Given the description of an element on the screen output the (x, y) to click on. 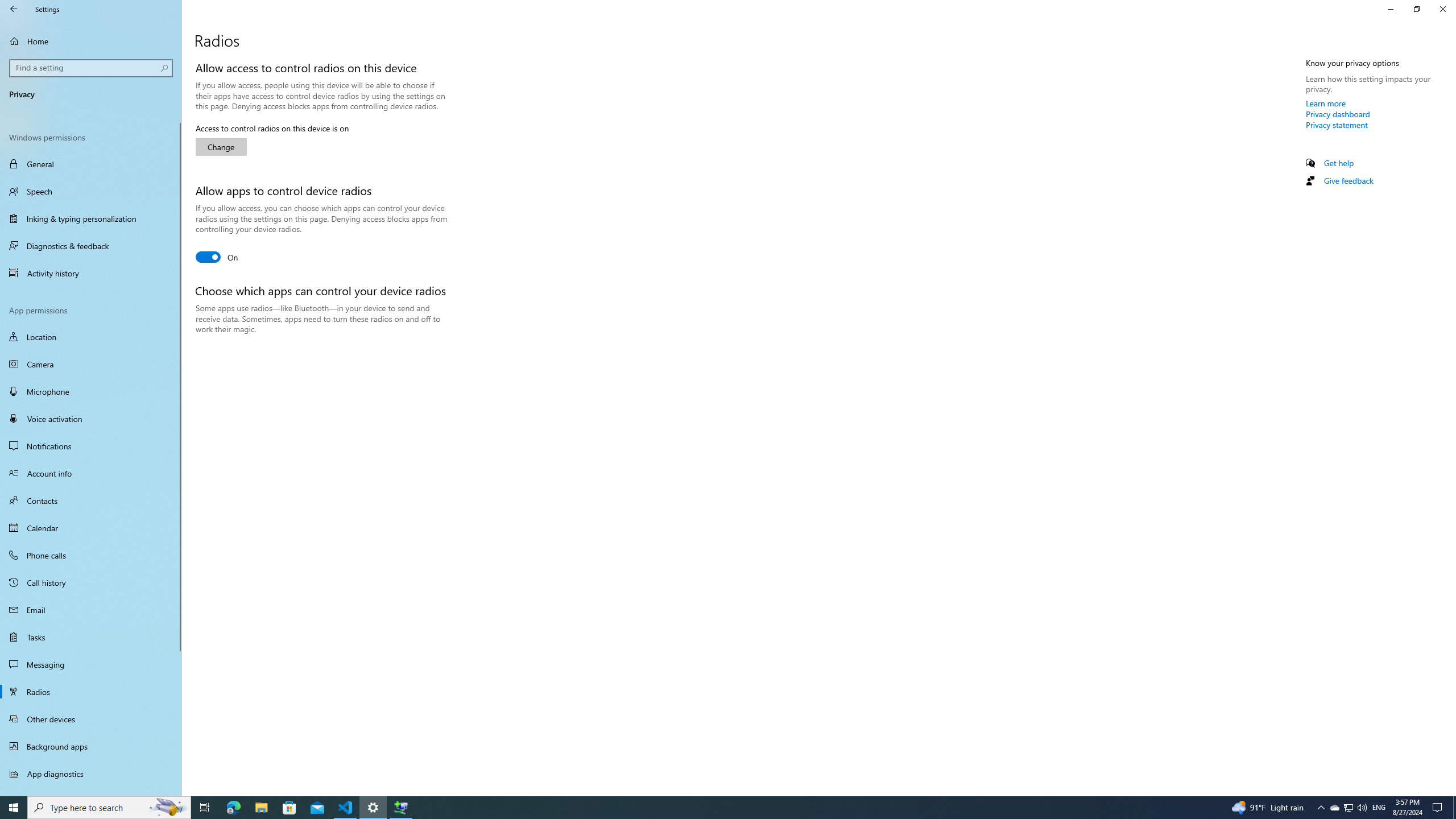
Messaging (91, 664)
Other devices (91, 718)
Microsoft Edge (233, 807)
Extensible Wizards Host Process - 1 running window (400, 807)
Privacy dashboard (1338, 113)
Visual Studio Code - 1 running window (345, 807)
Diagnostics & feedback (91, 245)
Background apps (91, 746)
Task View (204, 807)
Learn more (1326, 102)
General (91, 163)
Get help (1338, 162)
File Explorer (261, 807)
